Given the description of an element on the screen output the (x, y) to click on. 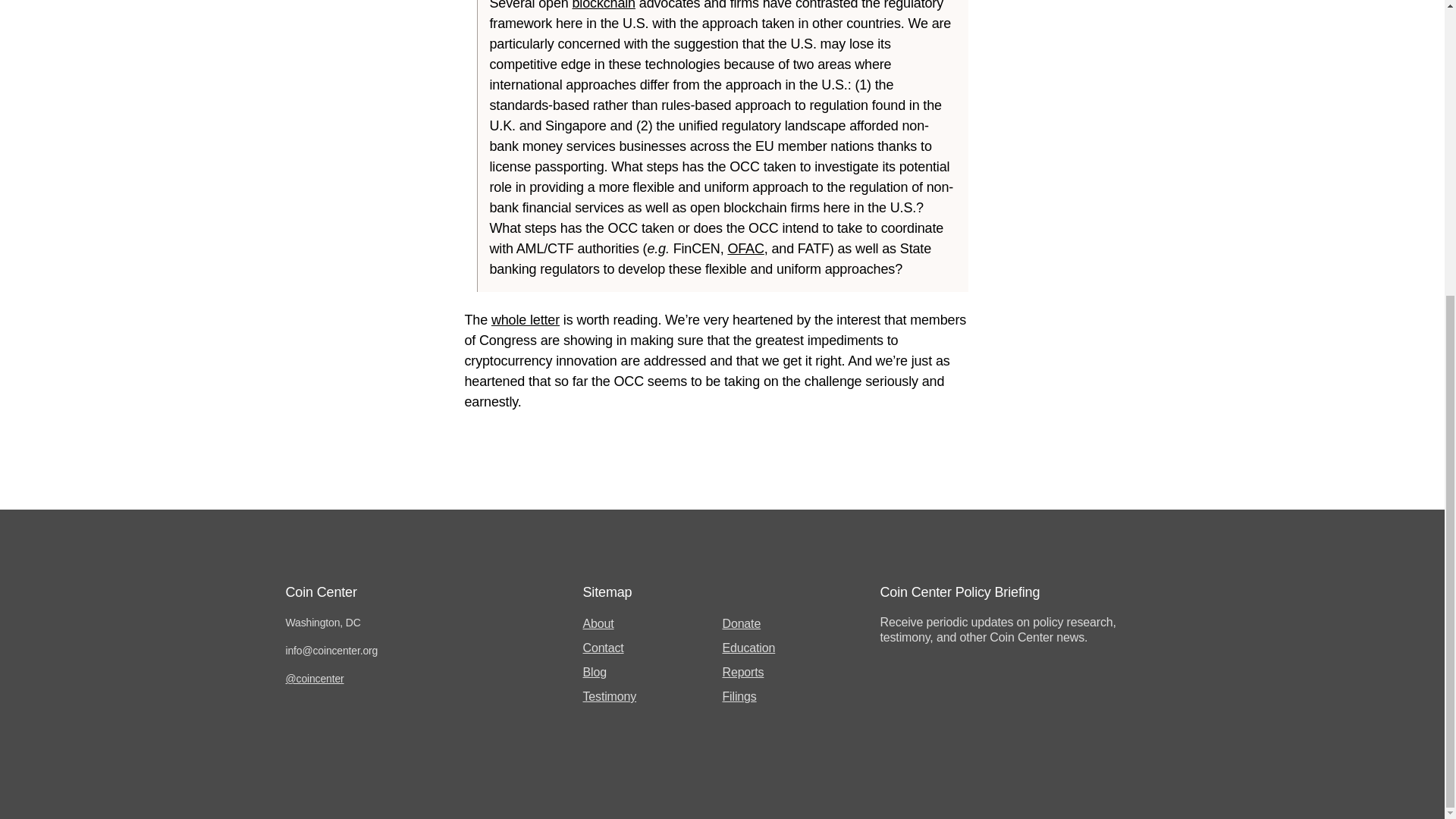
Donate (741, 623)
Education (748, 647)
Blog (593, 671)
OFAC (744, 248)
whole letter (525, 319)
Contact (602, 647)
Testimony (609, 696)
About (597, 623)
Filings (738, 696)
blockchain (603, 5)
Reports (742, 671)
